Given the description of an element on the screen output the (x, y) to click on. 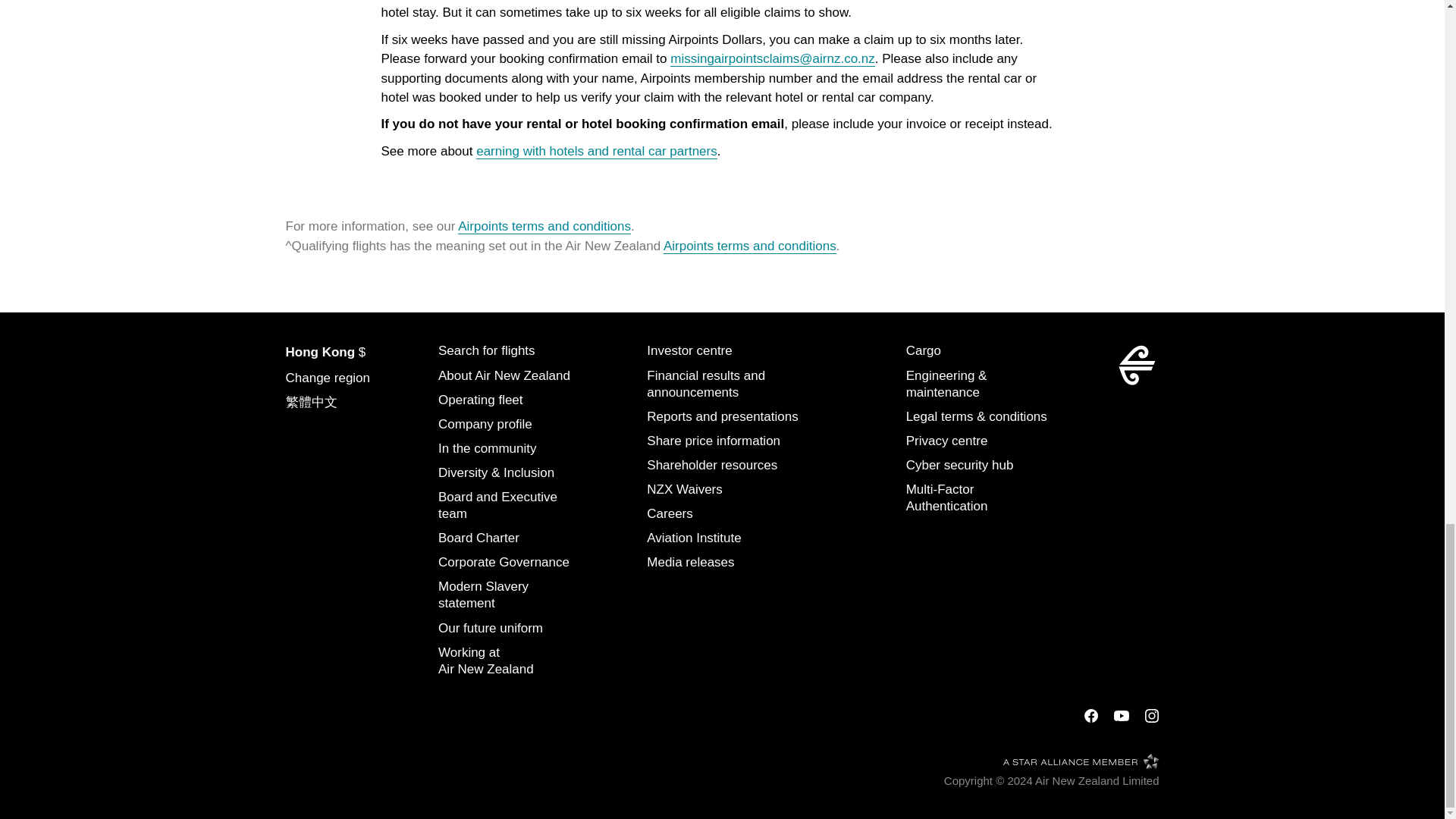
A Star Alliance member (1080, 761)
